Given the description of an element on the screen output the (x, y) to click on. 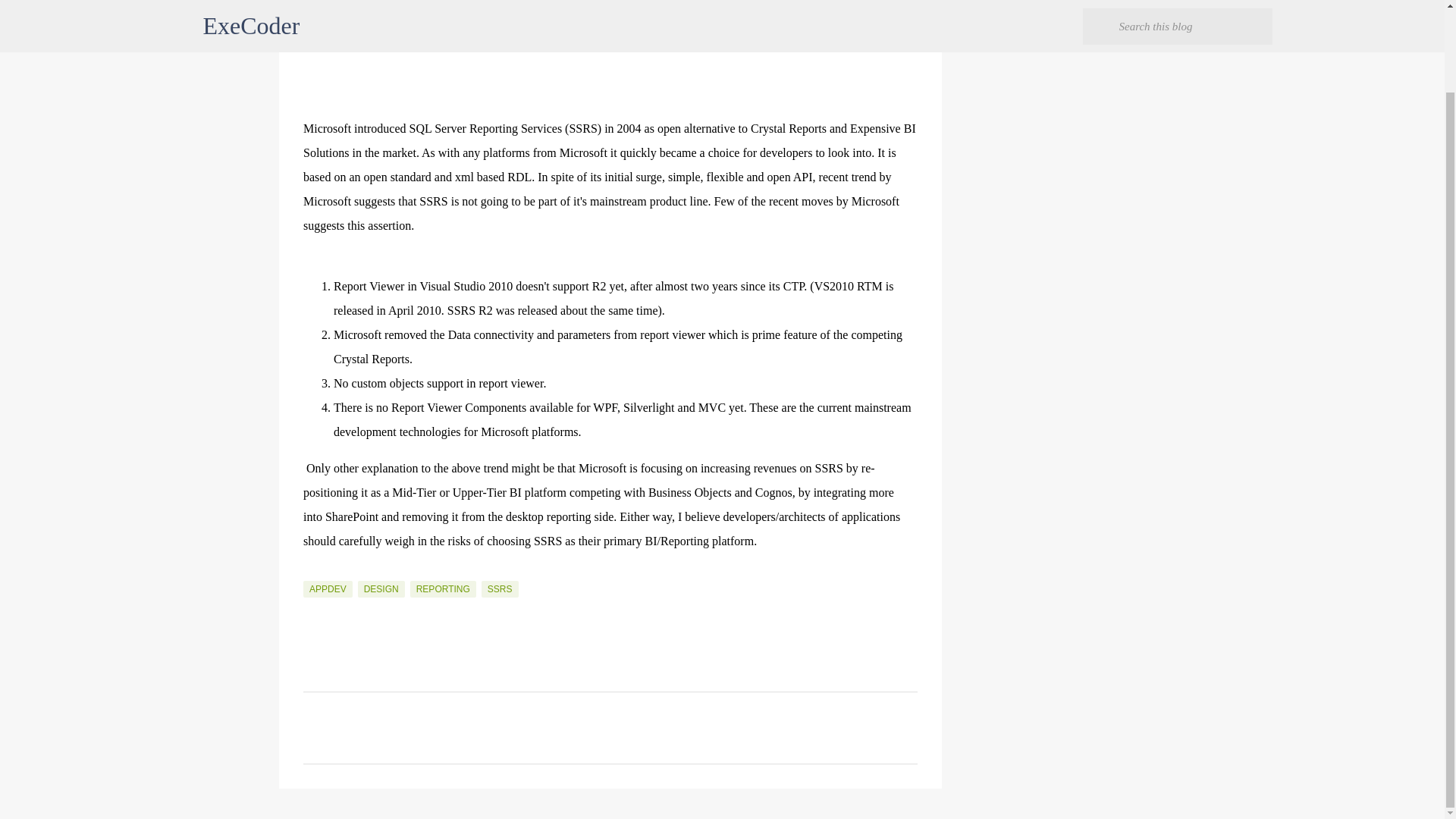
permanent link (338, 19)
SSRS (499, 588)
DESIGN (381, 588)
REPORTING (443, 588)
APPDEV (327, 588)
December 29, 2011 (338, 19)
